Given the description of an element on the screen output the (x, y) to click on. 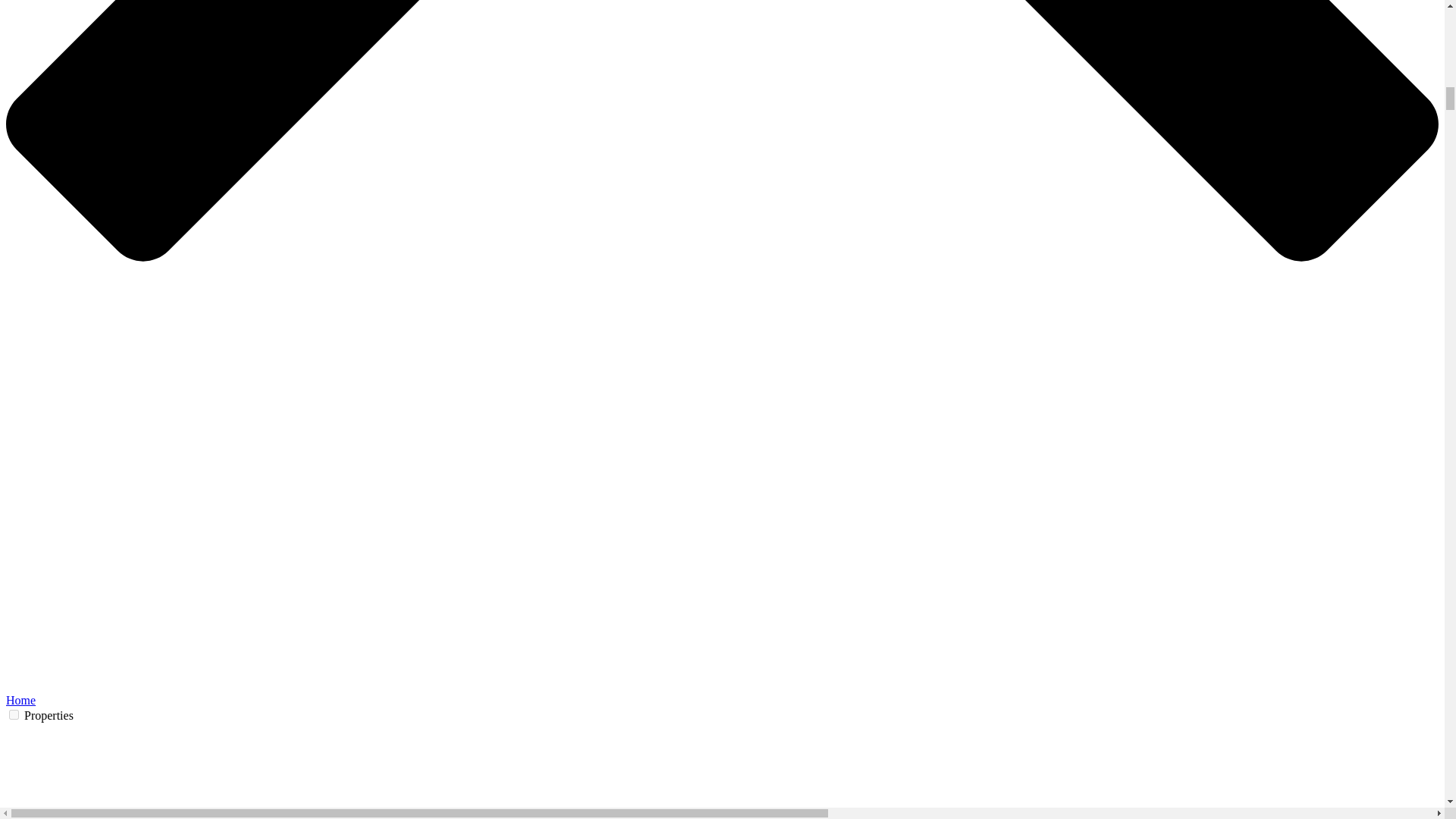
on (13, 714)
Home (19, 699)
